Given the description of an element on the screen output the (x, y) to click on. 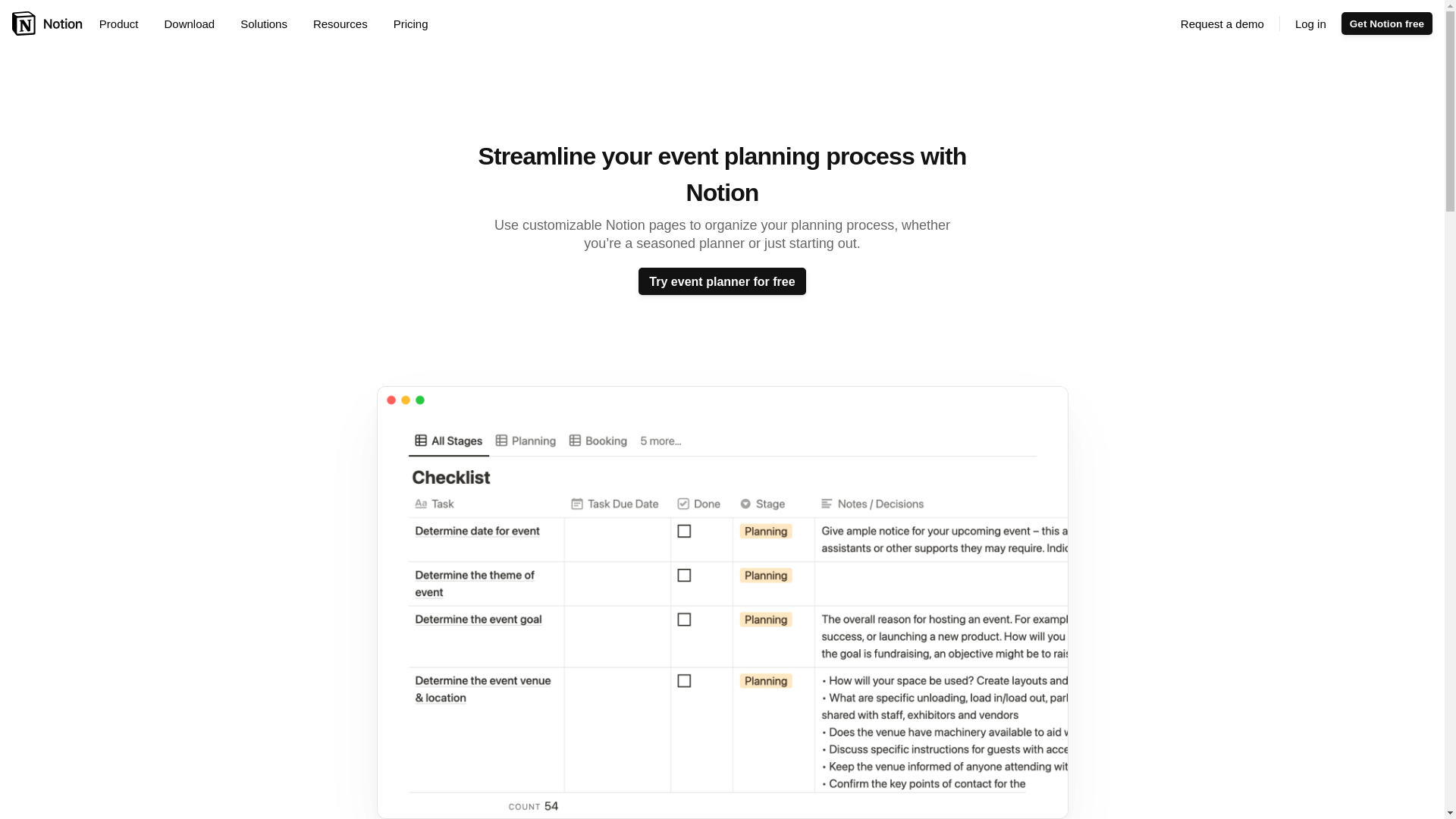
Product (124, 23)
Pricing (410, 23)
Resources (345, 23)
Request a demo (1222, 23)
Solutions (268, 23)
Download (193, 23)
